Given the description of an element on the screen output the (x, y) to click on. 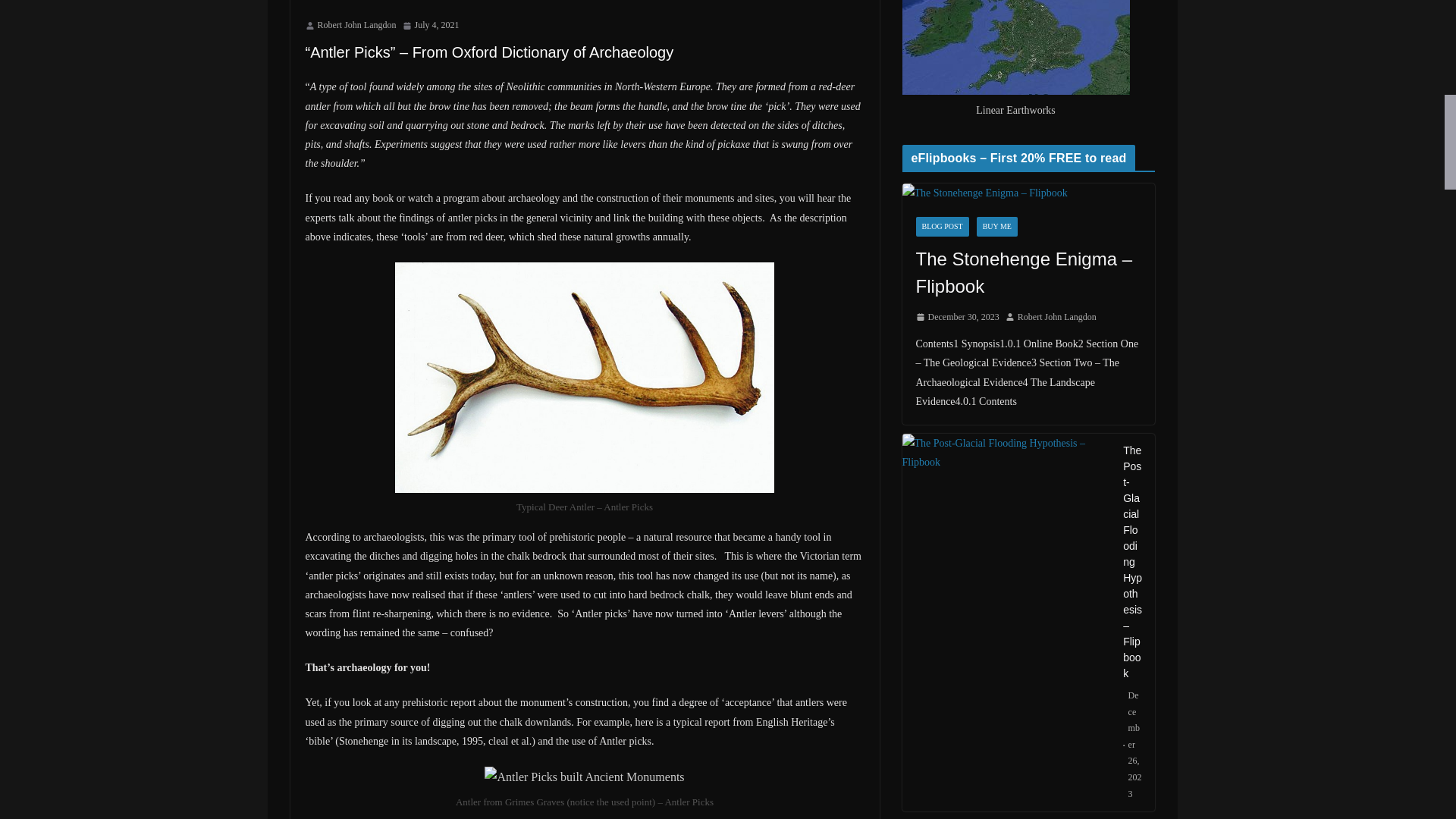
Robert John Langdon (356, 25)
Robert John Langdon (356, 25)
July 4, 2021 (429, 25)
10:17 am (429, 25)
